Given the description of an element on the screen output the (x, y) to click on. 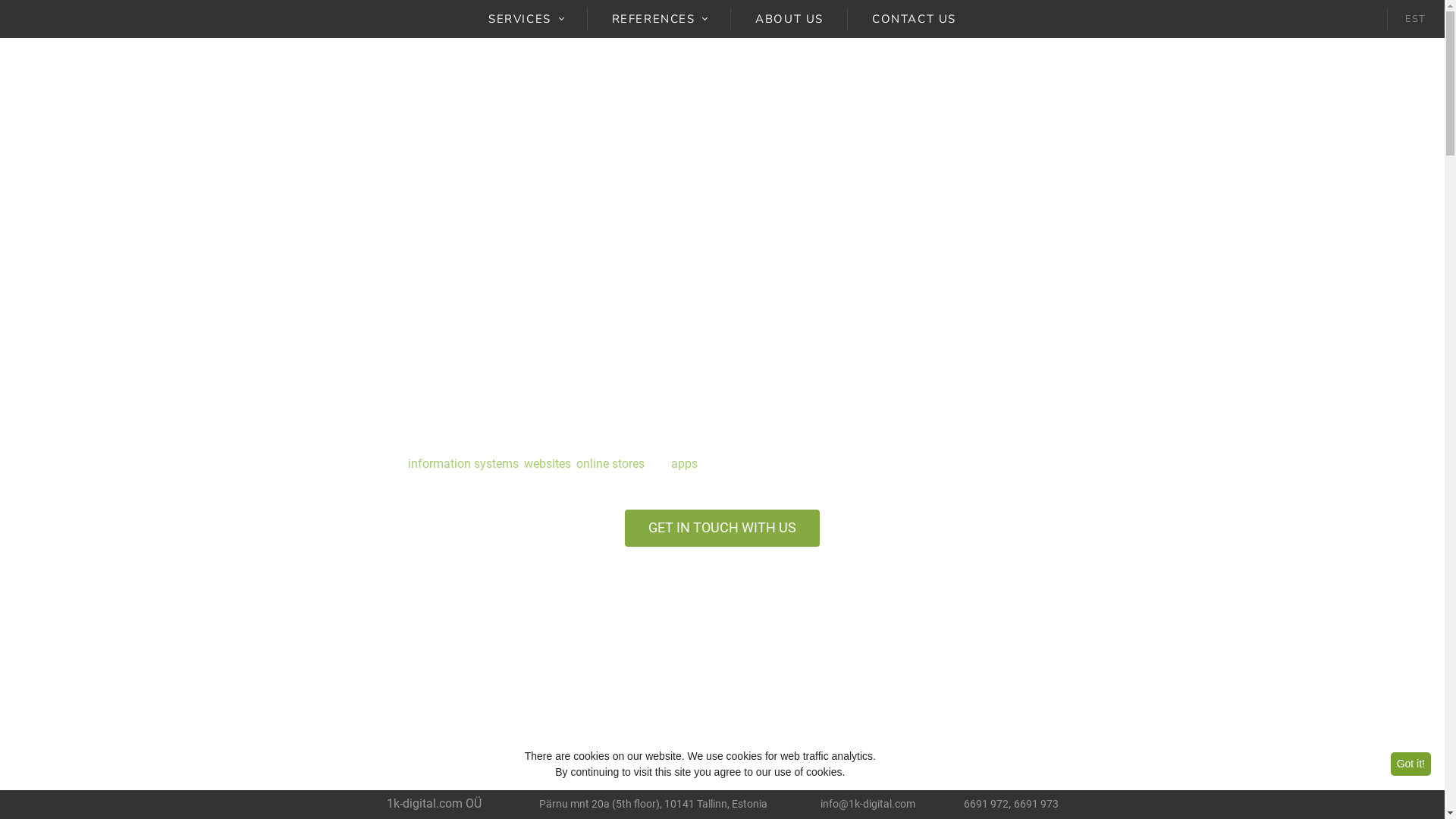
REFERENCES Element type: text (658, 18)
CONTACT US Element type: text (913, 18)
ABOUT US Element type: text (789, 18)
online stores Element type: text (610, 463)
websites Element type: text (546, 463)
information systems Element type: text (462, 463)
info@1k-digital.com Element type: text (867, 803)
apps Element type: text (683, 463)
6691 973 Element type: text (1035, 803)
EST Element type: text (1415, 19)
6691 972 Element type: text (985, 803)
GET IN TOUCH WITH US Element type: text (721, 528)
SERVICES Element type: text (525, 18)
